Given the description of an element on the screen output the (x, y) to click on. 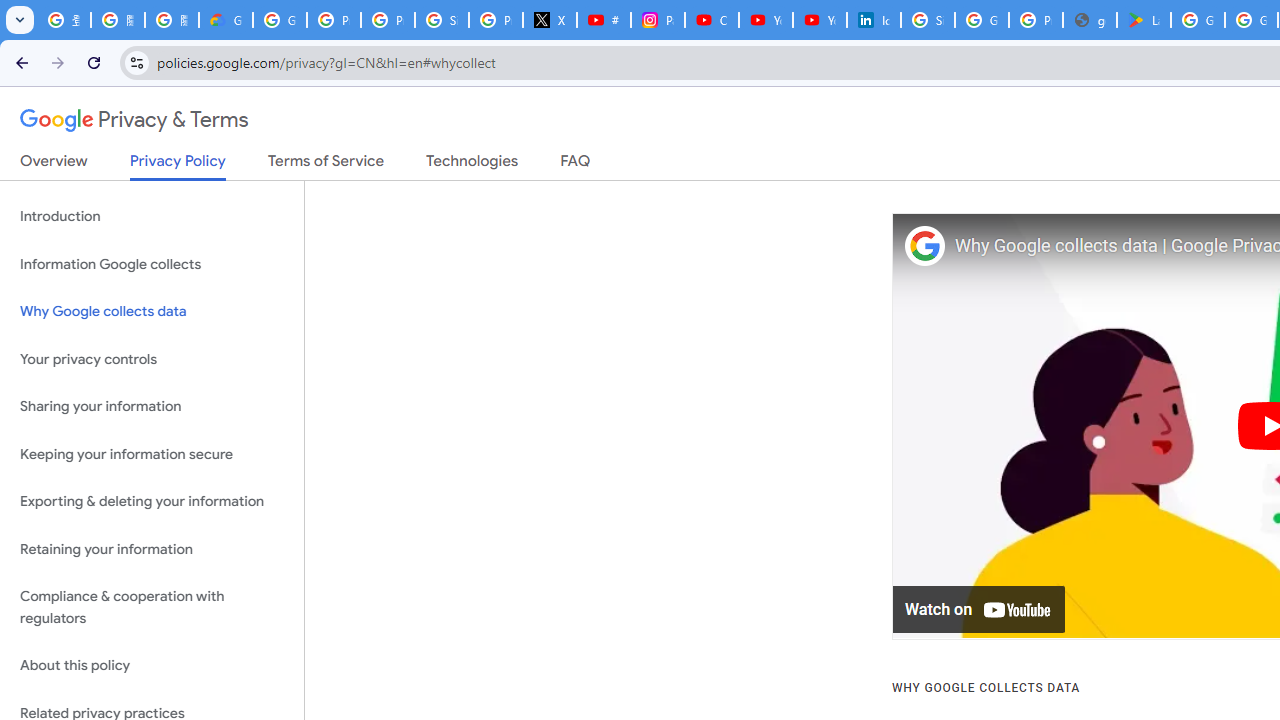
Compliance & cooperation with regulators (152, 607)
Sign in - Google Accounts (927, 20)
Your privacy controls (152, 358)
Introduction (152, 216)
Information Google collects (152, 263)
Terms of Service (326, 165)
Watch on YouTube (979, 610)
Privacy & Terms (134, 120)
